Given the description of an element on the screen output the (x, y) to click on. 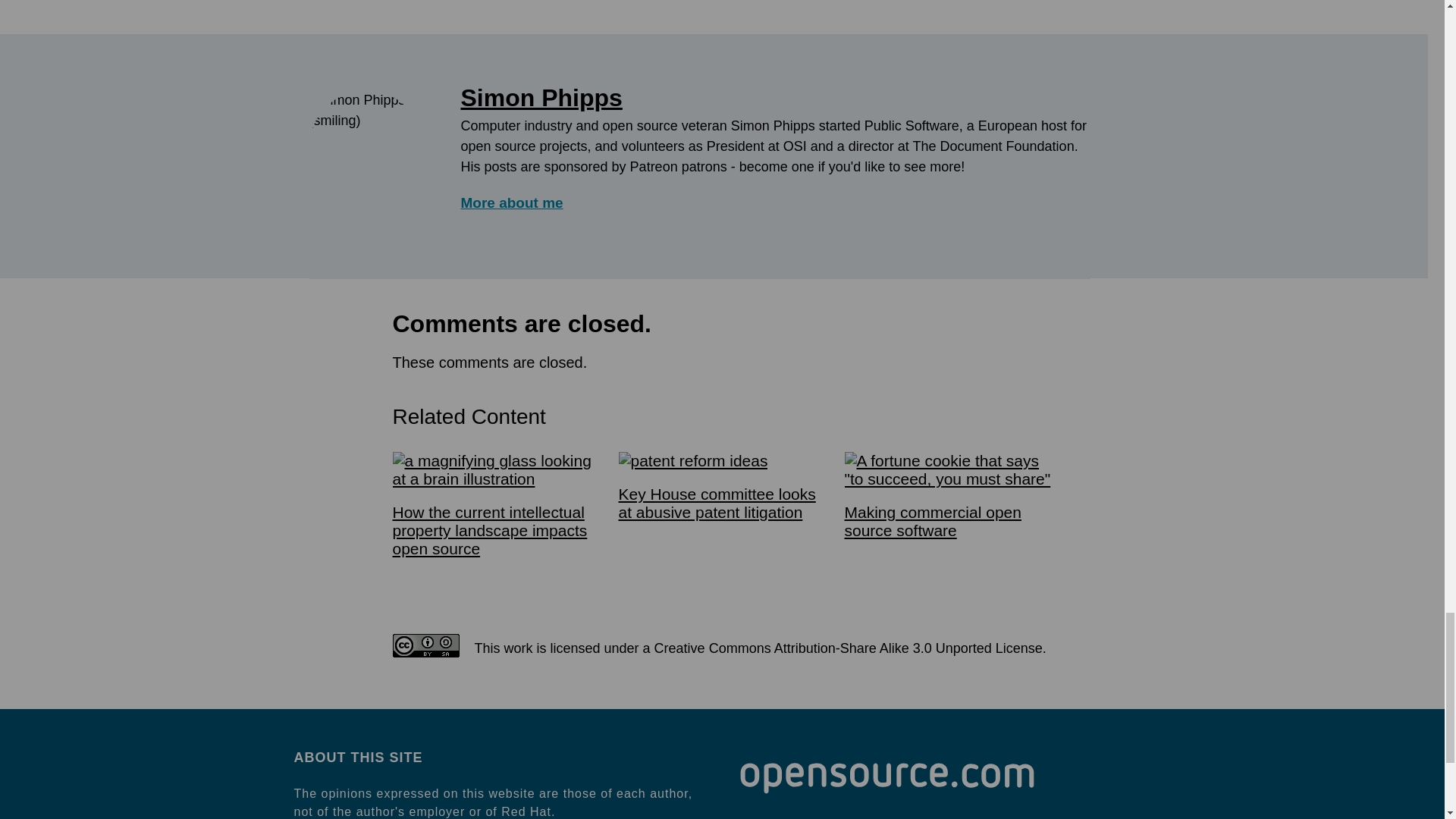
a magnifying glass looking at a brain illustration (496, 470)
A fortune cookie that says "to succeed, you must share" (948, 470)
patent reform ideas (693, 461)
